Given the description of an element on the screen output the (x, y) to click on. 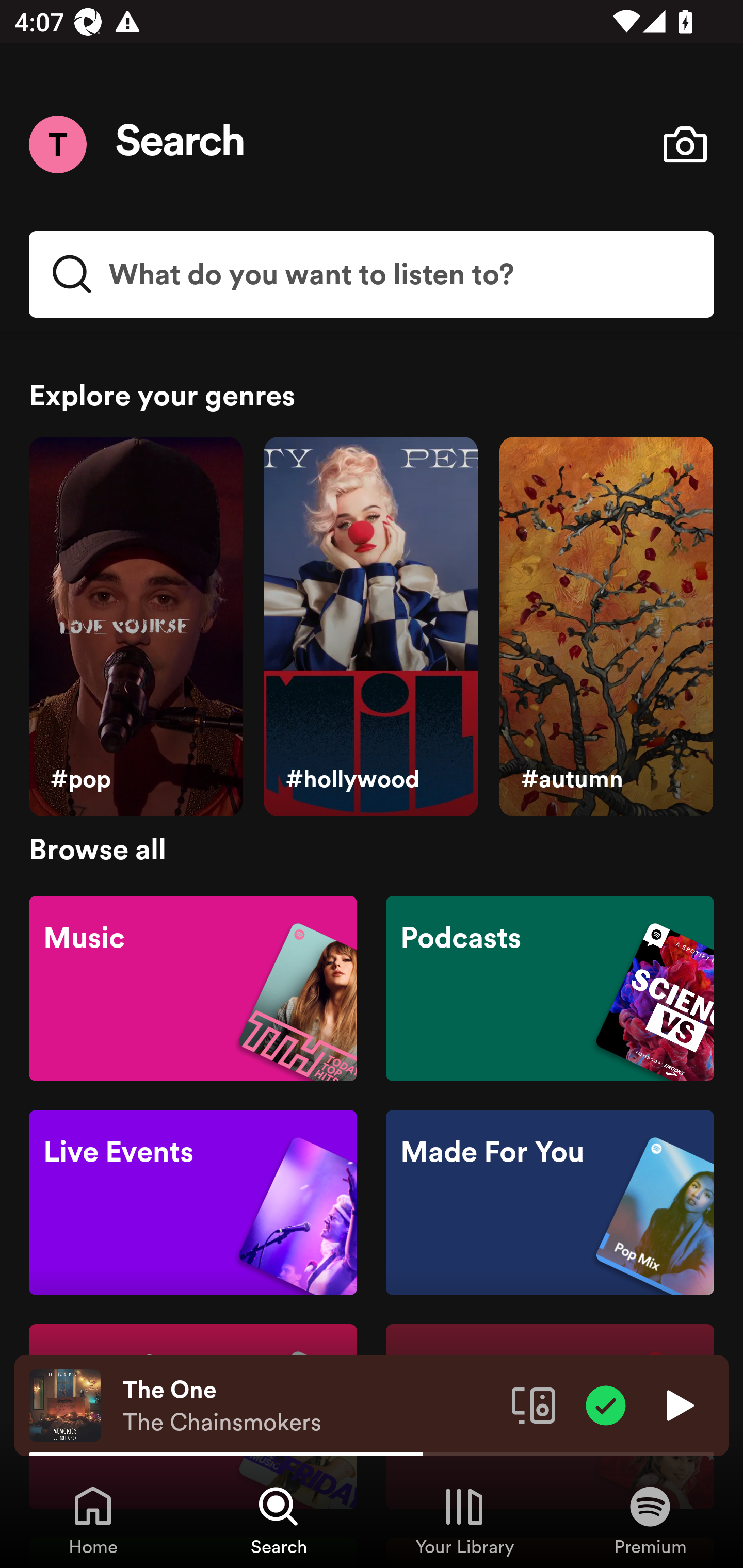
Menu (57, 144)
Open camera (685, 145)
Search (180, 144)
#pop (135, 626)
#hollywood (370, 626)
#autumn (606, 626)
Music (192, 987)
Podcasts (549, 987)
Live Events (192, 1202)
Made For You (549, 1202)
The One The Chainsmokers (309, 1405)
The cover art of the currently playing track (64, 1404)
Connect to a device. Opens the devices menu (533, 1404)
Item added (605, 1404)
Play (677, 1404)
Home, Tab 1 of 4 Home Home (92, 1519)
Search, Tab 2 of 4 Search Search (278, 1519)
Your Library, Tab 3 of 4 Your Library Your Library (464, 1519)
Premium, Tab 4 of 4 Premium Premium (650, 1519)
